Given the description of an element on the screen output the (x, y) to click on. 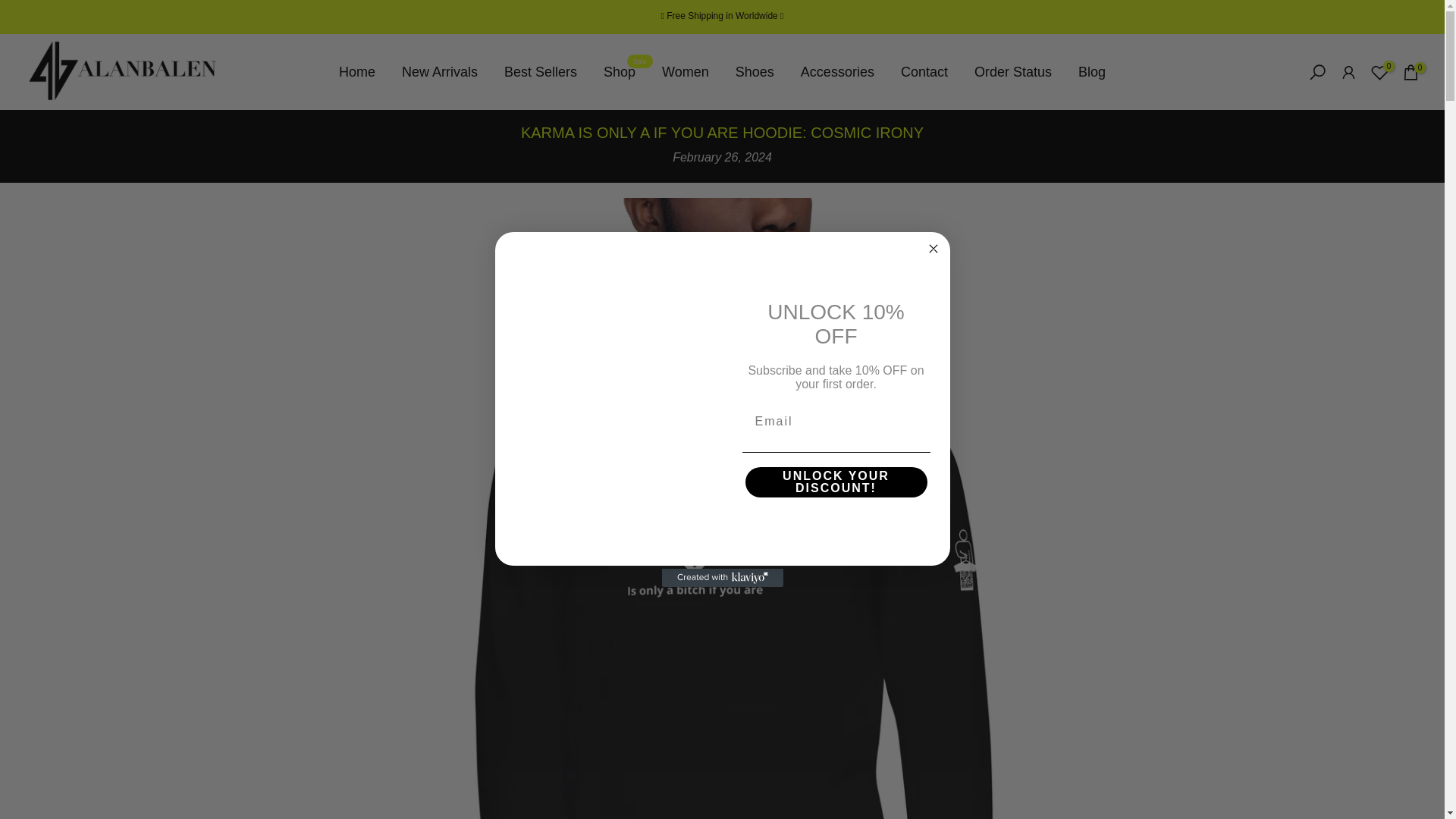
Best Sellers (541, 71)
Home (620, 71)
Women (356, 71)
Skip to content (685, 71)
New Arrivals (10, 7)
